Given the description of an element on the screen output the (x, y) to click on. 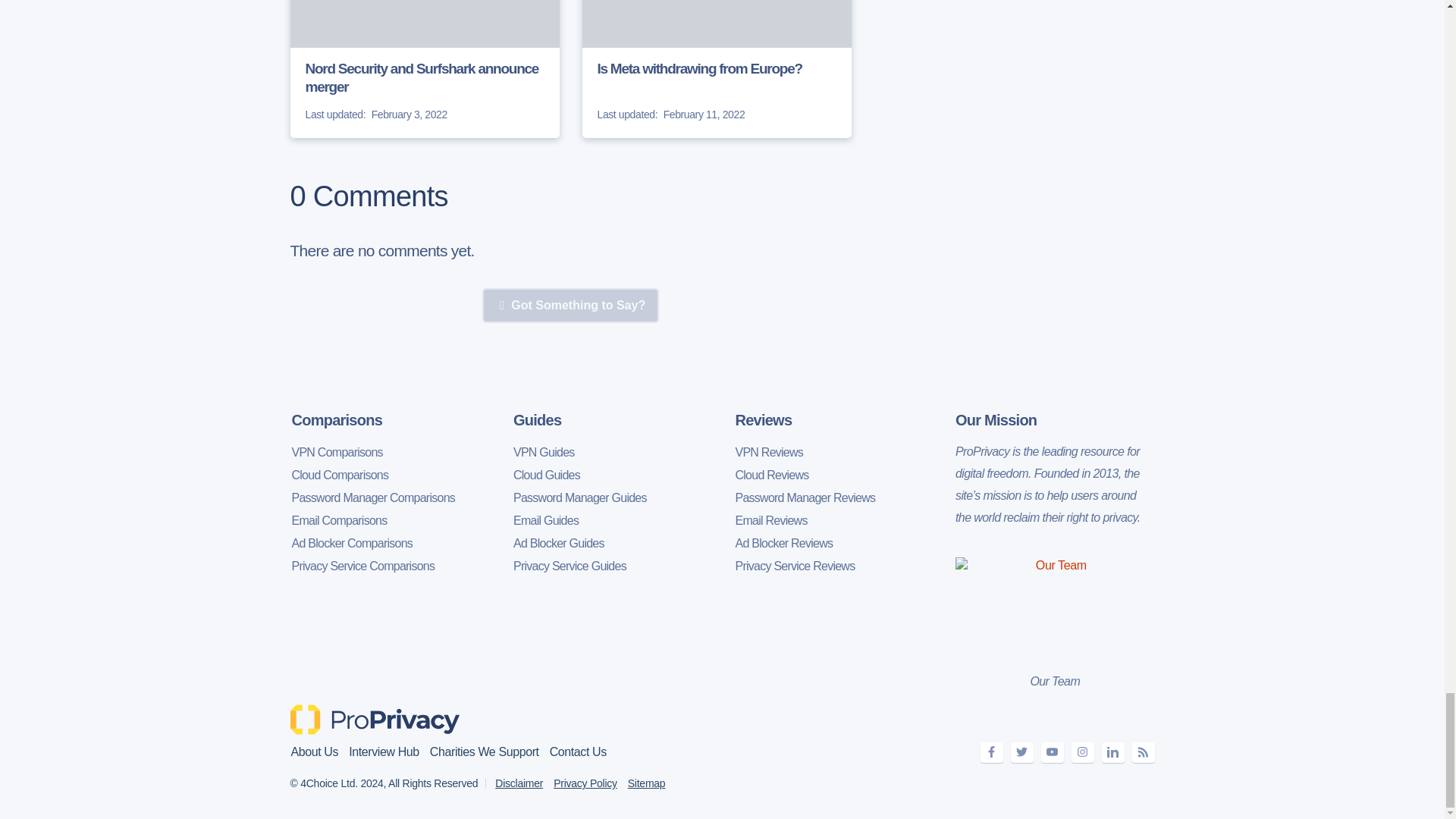
Our Team (1054, 607)
Facebook Page (991, 752)
Last Updated Date (334, 114)
Welcome to ProPrivacy! (376, 719)
Last Updated Date (627, 114)
Instagram Profile (1081, 752)
Twitter Profile (1021, 752)
YouTube Channel (1051, 752)
